Given the description of an element on the screen output the (x, y) to click on. 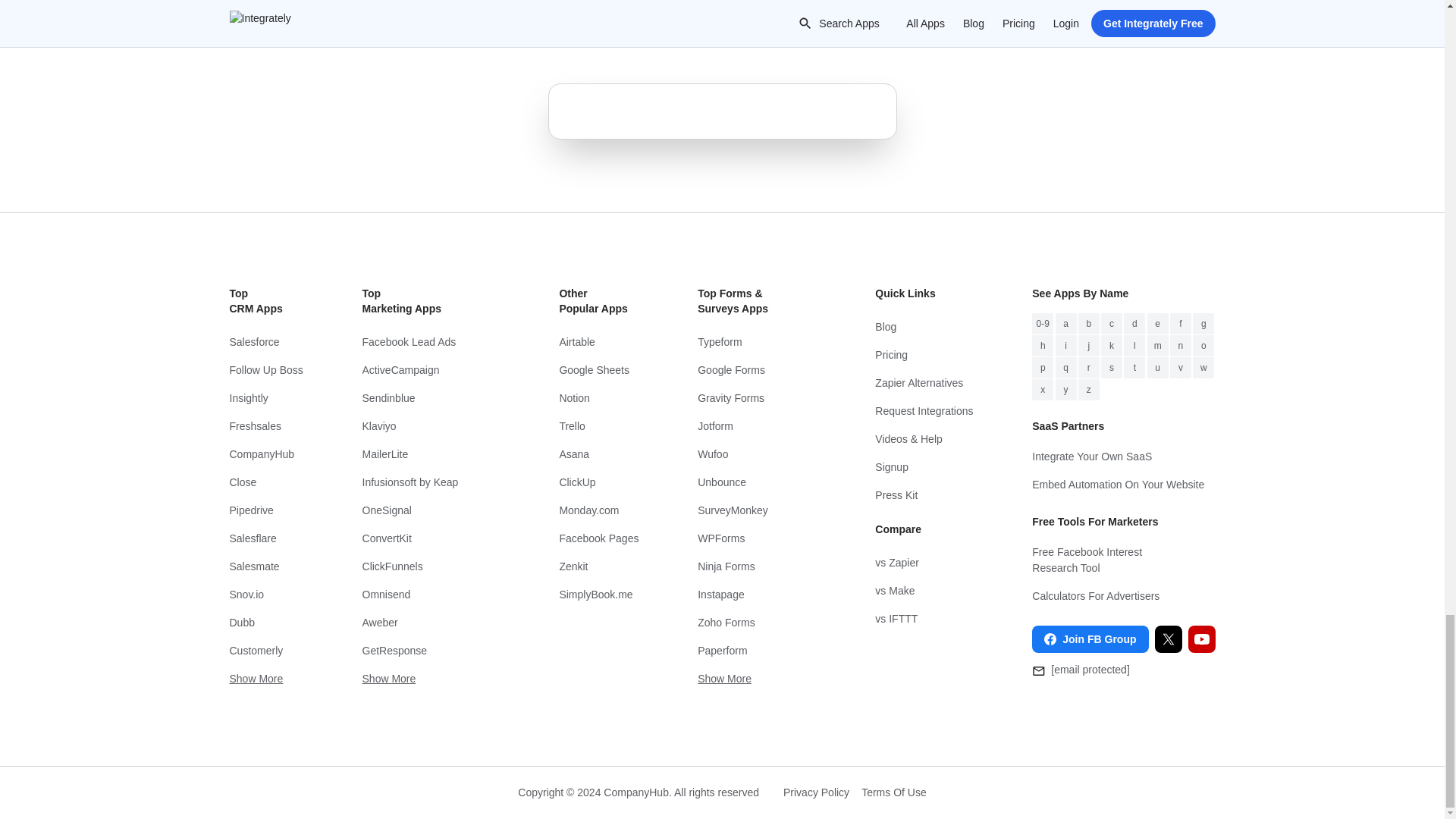
GetResponse (431, 651)
Dubb (265, 623)
Salesflare (265, 538)
ConvertKit (431, 538)
Infusionsoft by Keap (431, 482)
MailerLite (431, 454)
Sendinblue (431, 398)
OneSignal (431, 510)
Aweber (431, 623)
Customerly (265, 651)
Omnisend (431, 594)
CompanyHub (265, 454)
Klaviyo (431, 426)
Close (265, 482)
Follow Up Boss (265, 370)
